Given the description of an element on the screen output the (x, y) to click on. 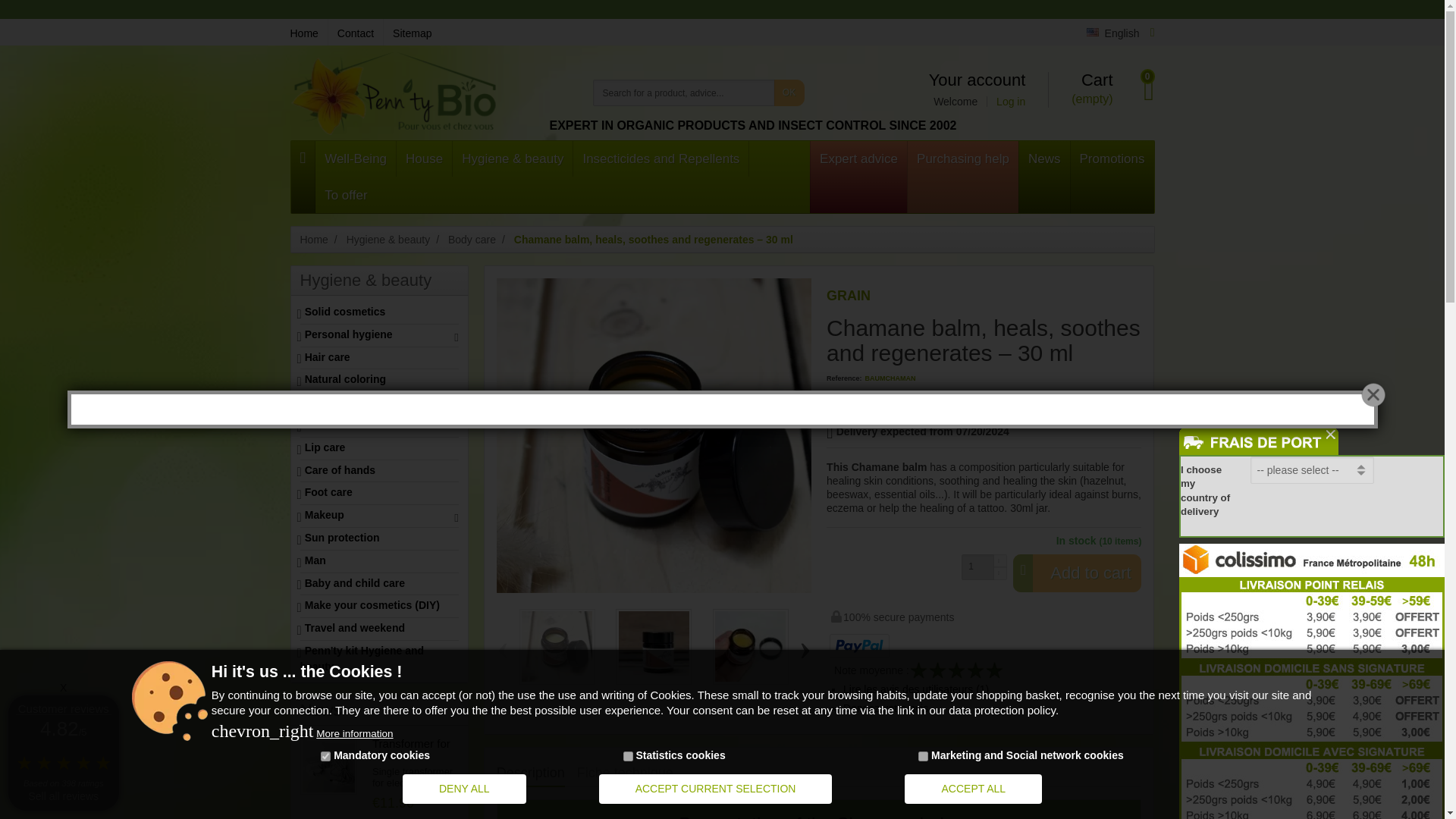
Your account (977, 80)
Well-Being (355, 158)
on (325, 756)
Sitemap (406, 31)
OK (788, 92)
Home (307, 31)
on (923, 756)
1 (977, 566)
Expert advice (858, 176)
Promotions (1112, 176)
Contact (354, 31)
House (423, 158)
on (628, 756)
Log in (1006, 101)
Purchasing help (962, 176)
